Given the description of an element on the screen output the (x, y) to click on. 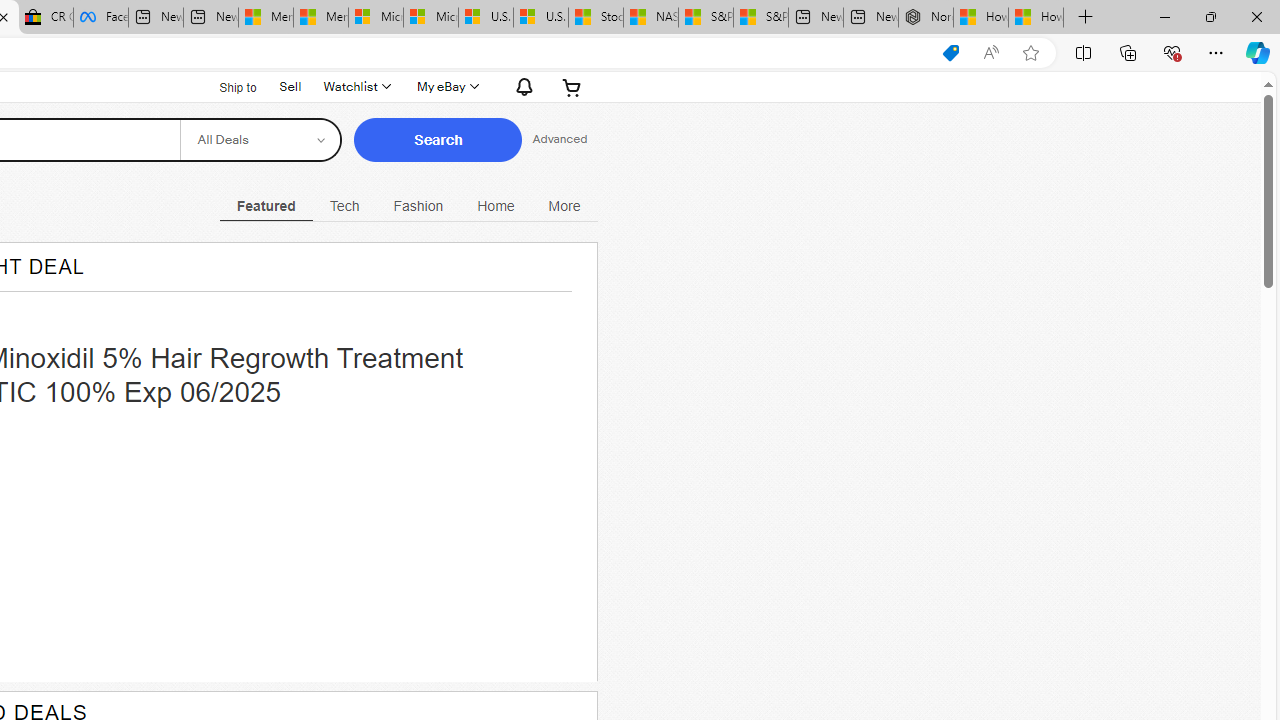
Add this page to favorites (Ctrl+D) (1030, 53)
